Given the description of an element on the screen output the (x, y) to click on. 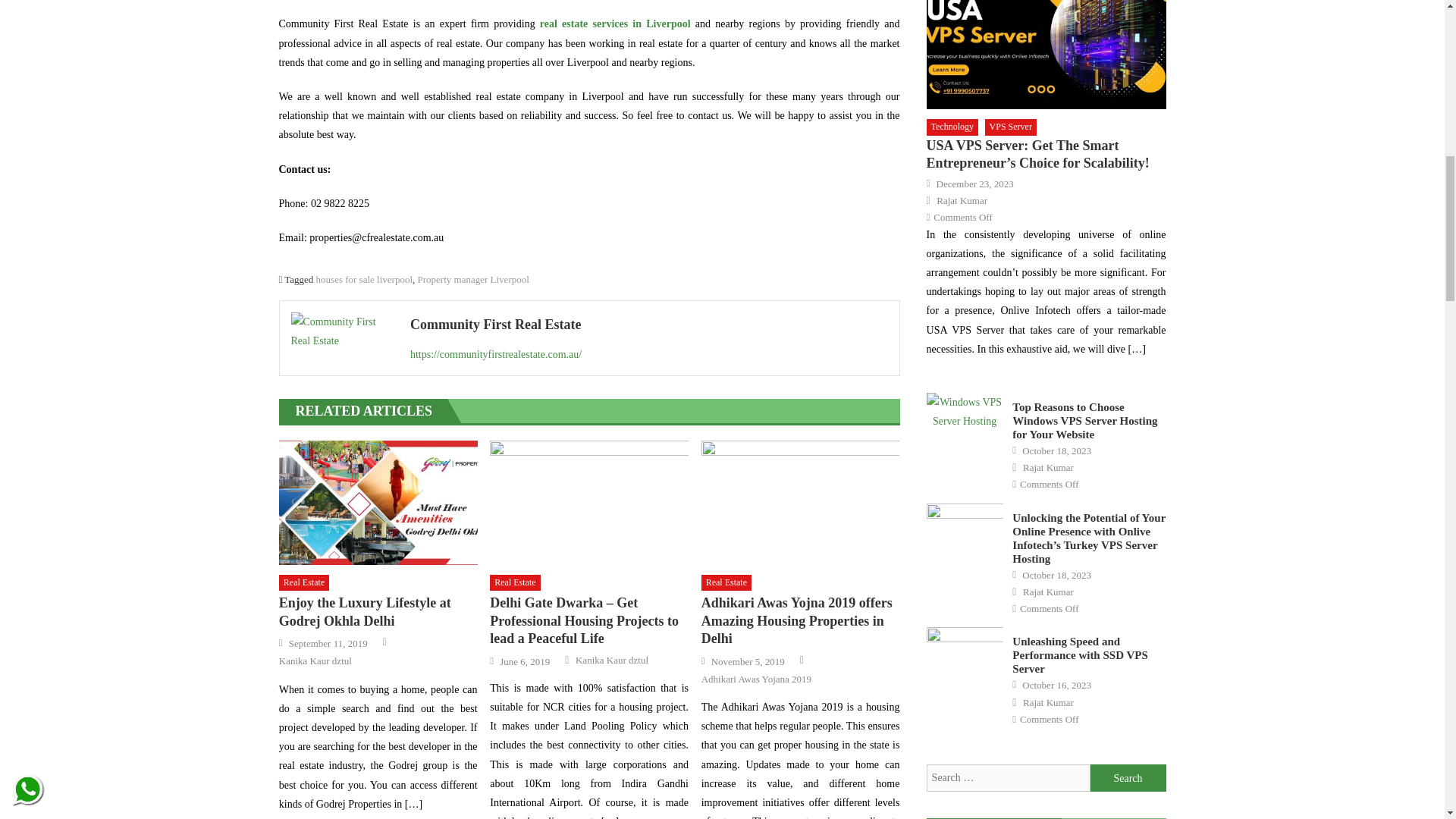
Unleashing Speed and Performance with SSD VPS Server (964, 654)
Search (1128, 777)
Search (1128, 777)
Enjoy the Luxury Lifestyle at Godrej Okhla Delhi (378, 502)
